Given the description of an element on the screen output the (x, y) to click on. 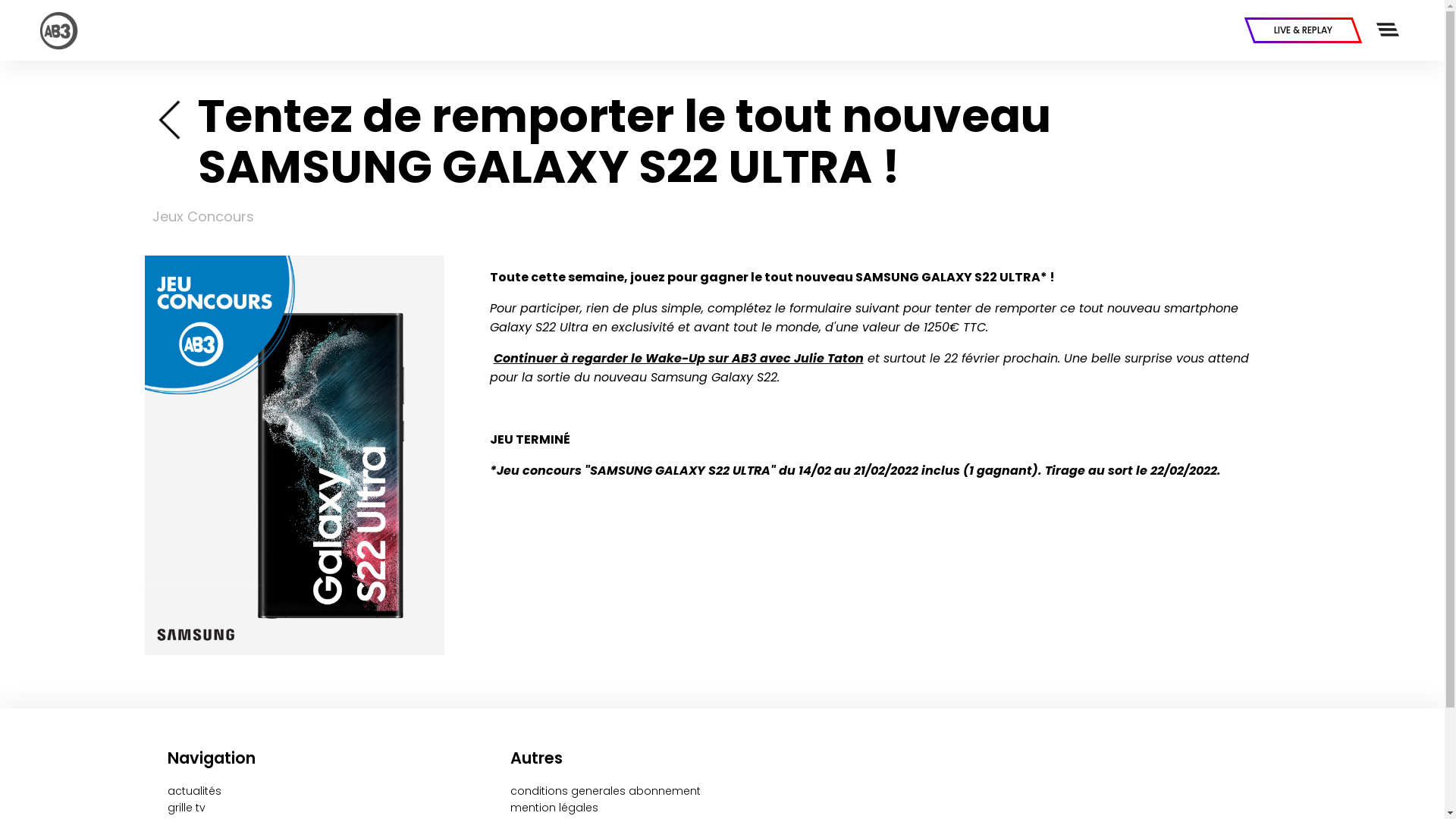
home Element type: hover (170, 117)
LIVE & REPLAY Element type: text (1302, 30)
grille tv Element type: text (185, 807)
conditions generales abonnement Element type: text (605, 790)
logo Element type: hover (58, 29)
